Given the description of an element on the screen output the (x, y) to click on. 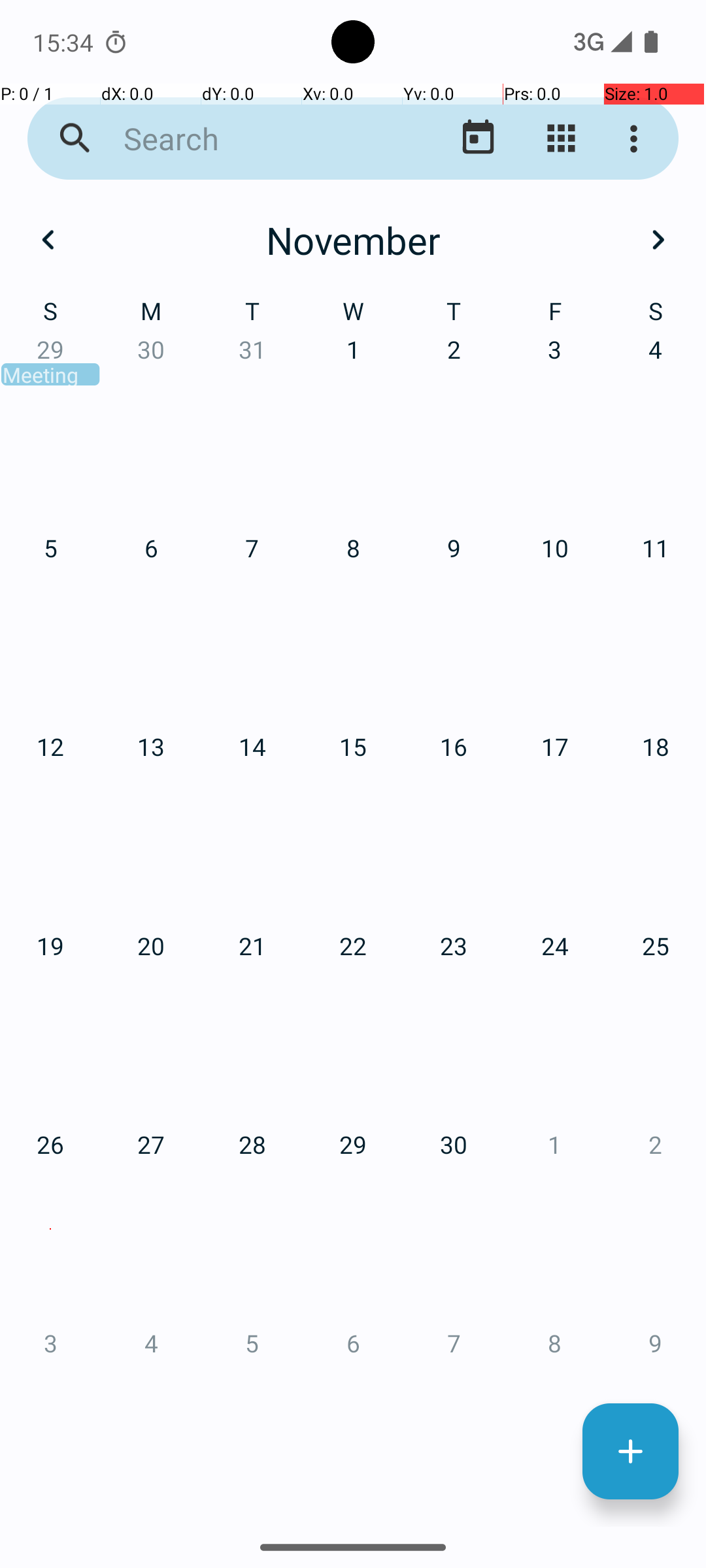
November Element type: android.widget.TextView (352, 239)
